Given the description of an element on the screen output the (x, y) to click on. 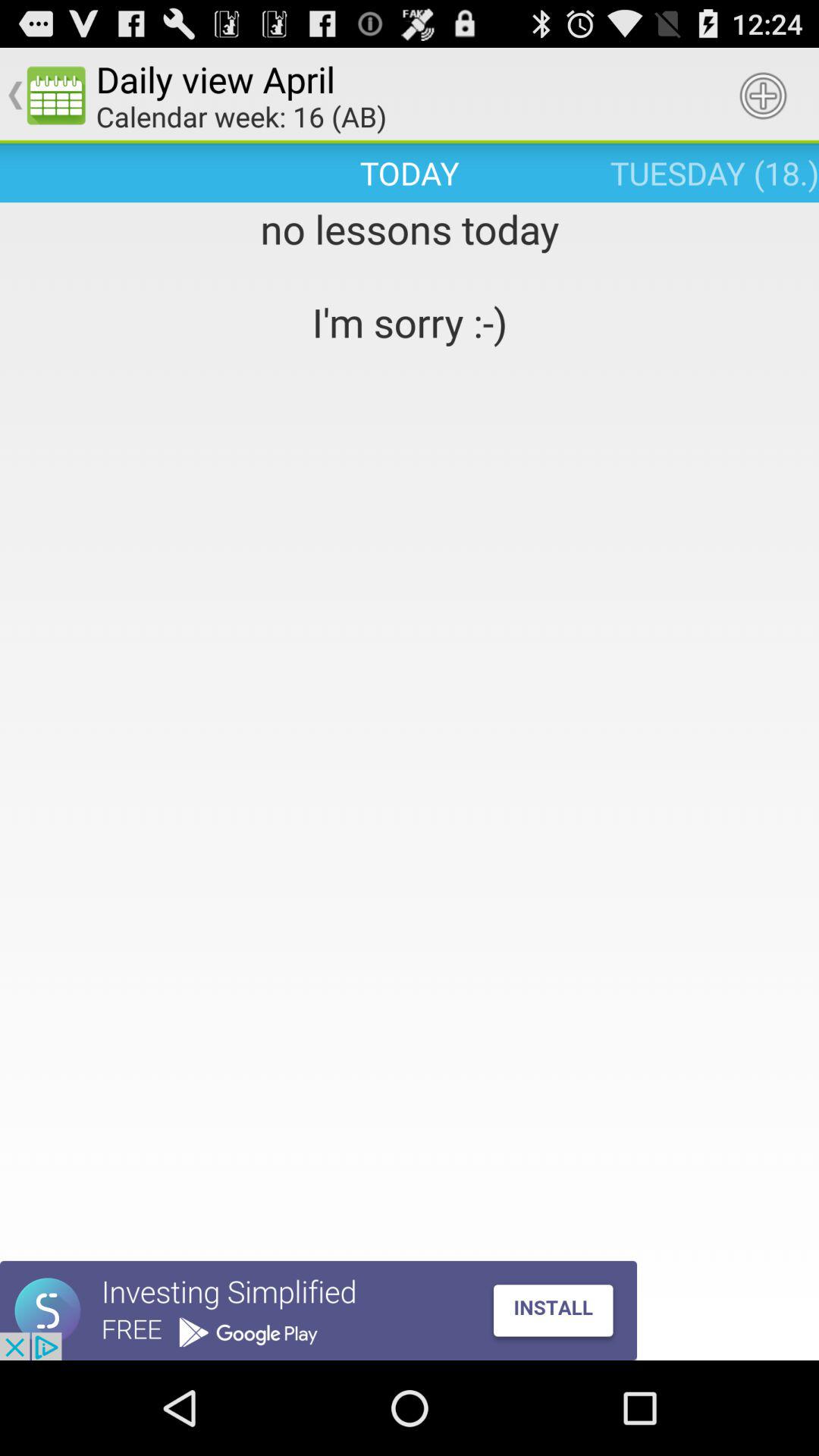
remove add (318, 1310)
